Given the description of an element on the screen output the (x, y) to click on. 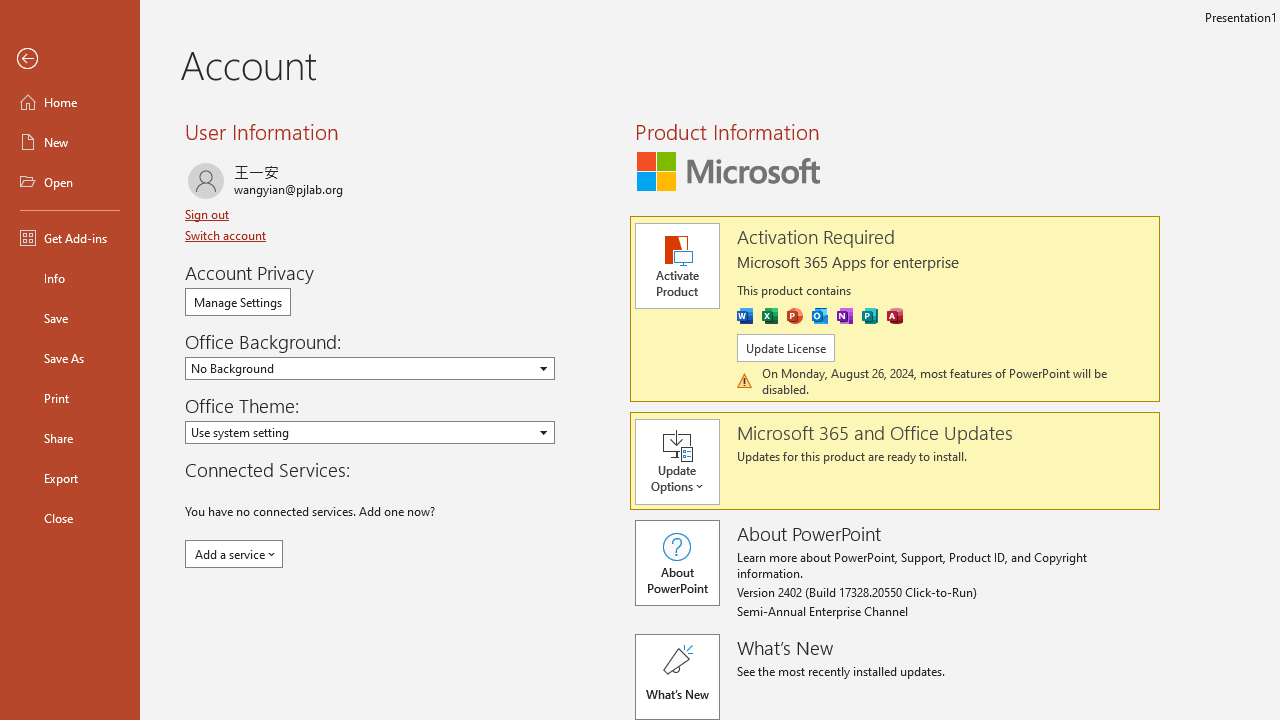
Access (894, 316)
Excel (769, 316)
Print (69, 398)
Export (69, 477)
Word (744, 316)
Office Theme (370, 432)
Back (69, 59)
Outlook (819, 316)
Info (69, 277)
Office Background (370, 368)
New (69, 141)
Add a service (233, 554)
